Given the description of an element on the screen output the (x, y) to click on. 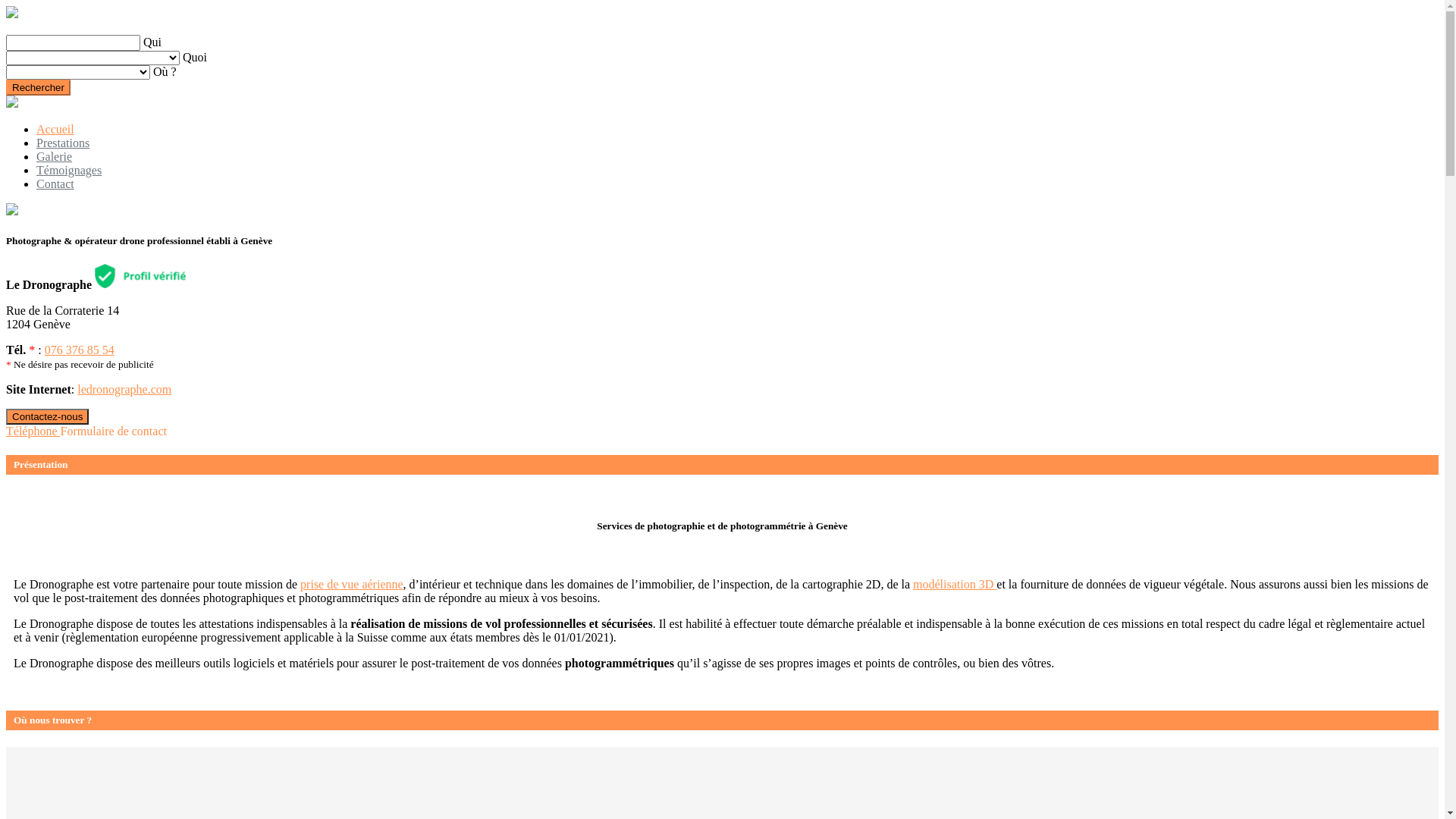
076 376 85 54 Element type: text (79, 349)
Rechercher Element type: text (38, 87)
Contact Element type: text (55, 183)
Accueil Element type: text (55, 128)
Galerie Element type: text (54, 156)
Contactez-nous Element type: text (47, 416)
Formulaire de contact Element type: text (113, 430)
ledronographe.com Element type: text (124, 388)
Prestations Element type: text (62, 142)
